Given the description of an element on the screen output the (x, y) to click on. 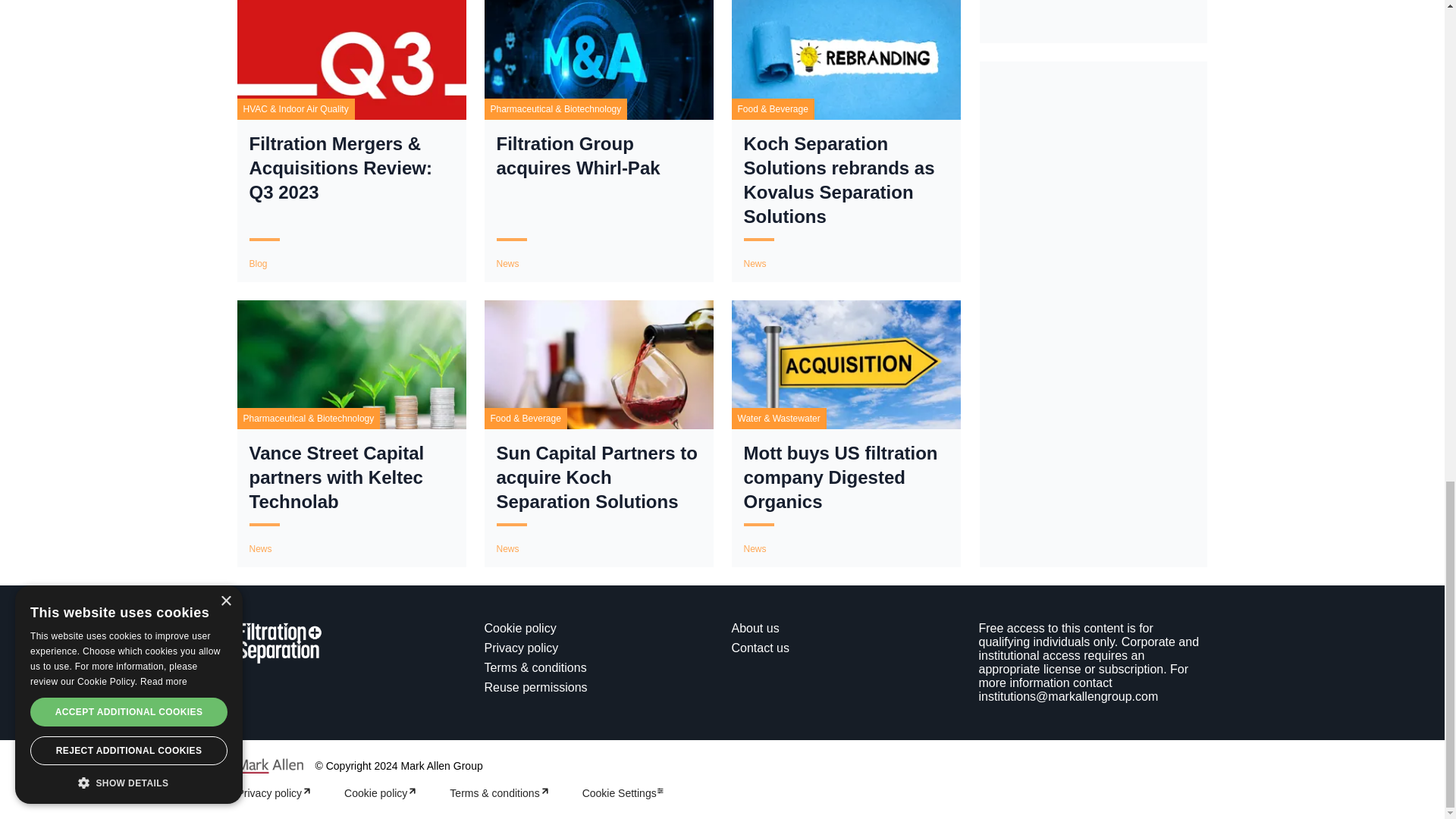
3rd party ad content (1093, 175)
